Given the description of an element on the screen output the (x, y) to click on. 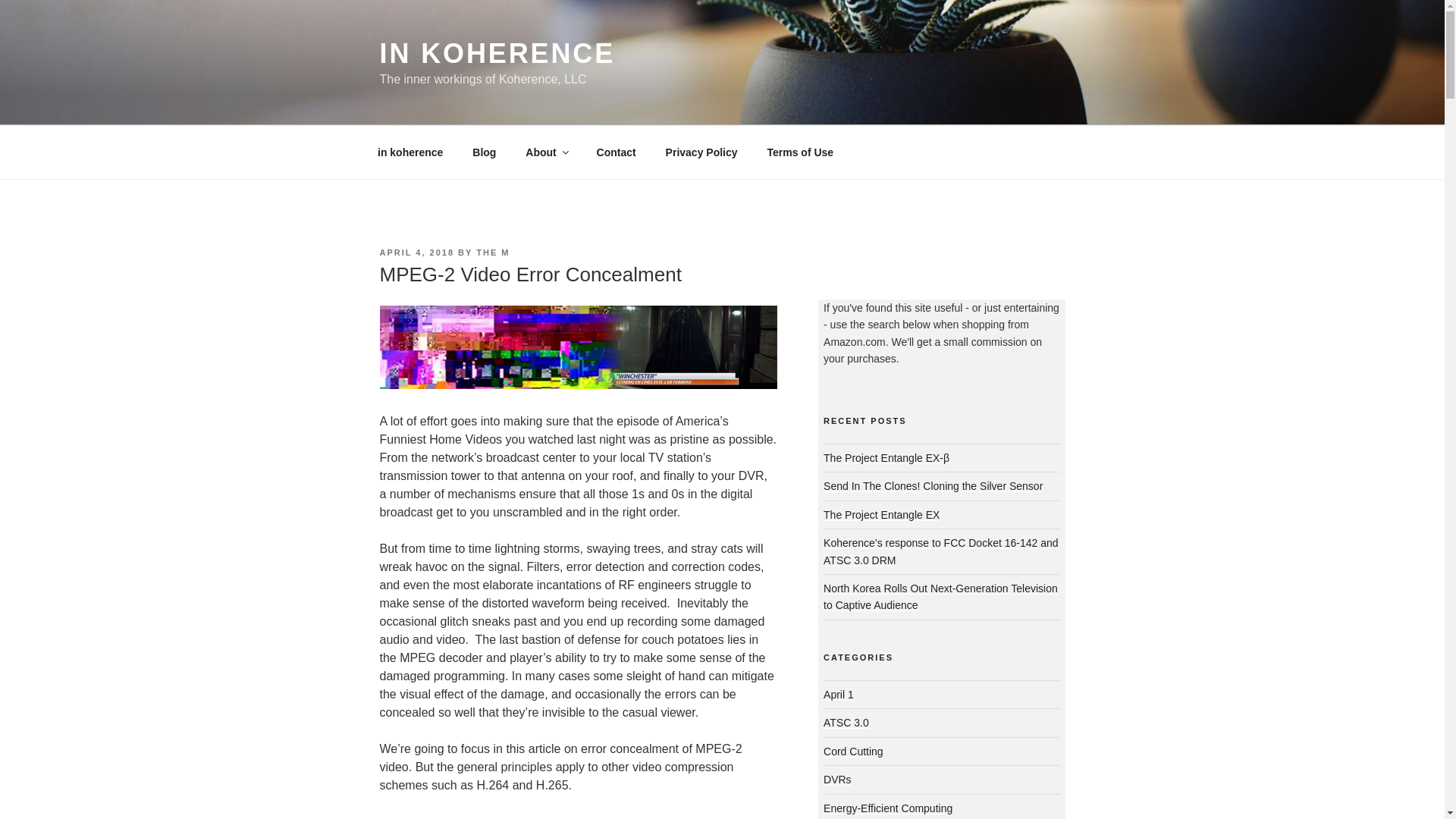
Send In The Clones! Cloning the Silver Sensor (933, 485)
Cord Cutting (853, 751)
in koherence (409, 151)
APRIL 4, 2018 (416, 252)
About (545, 151)
Energy-Efficient Computing (888, 808)
Terms of Use (800, 151)
Blog (484, 151)
Contact (616, 151)
April 1 (838, 694)
THE M (492, 252)
IN KOHERENCE (496, 52)
ATSC 3.0 (846, 722)
The Project Entangle EX (881, 514)
